Given the description of an element on the screen output the (x, y) to click on. 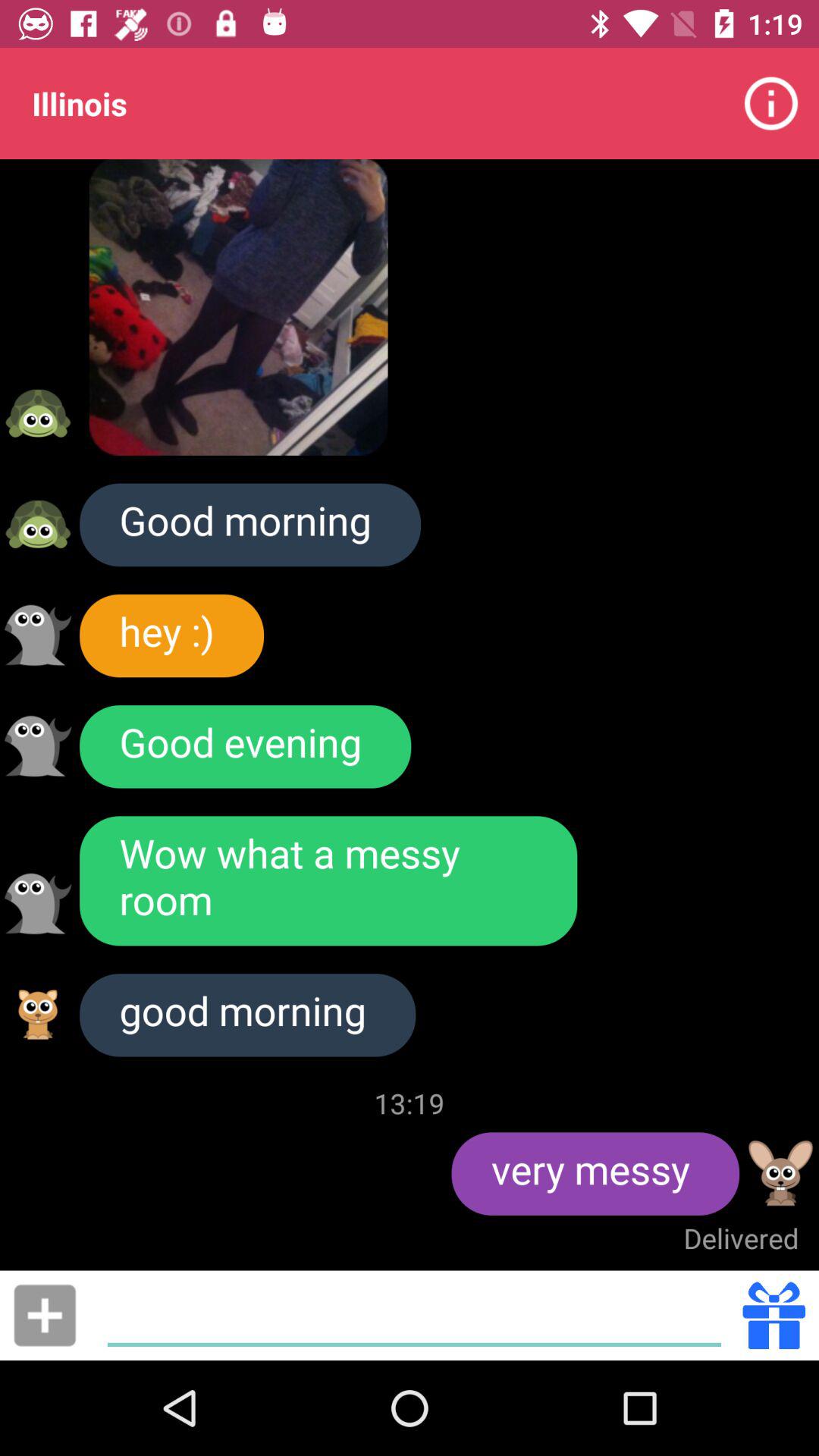
check user profile (38, 524)
